Given the description of an element on the screen output the (x, y) to click on. 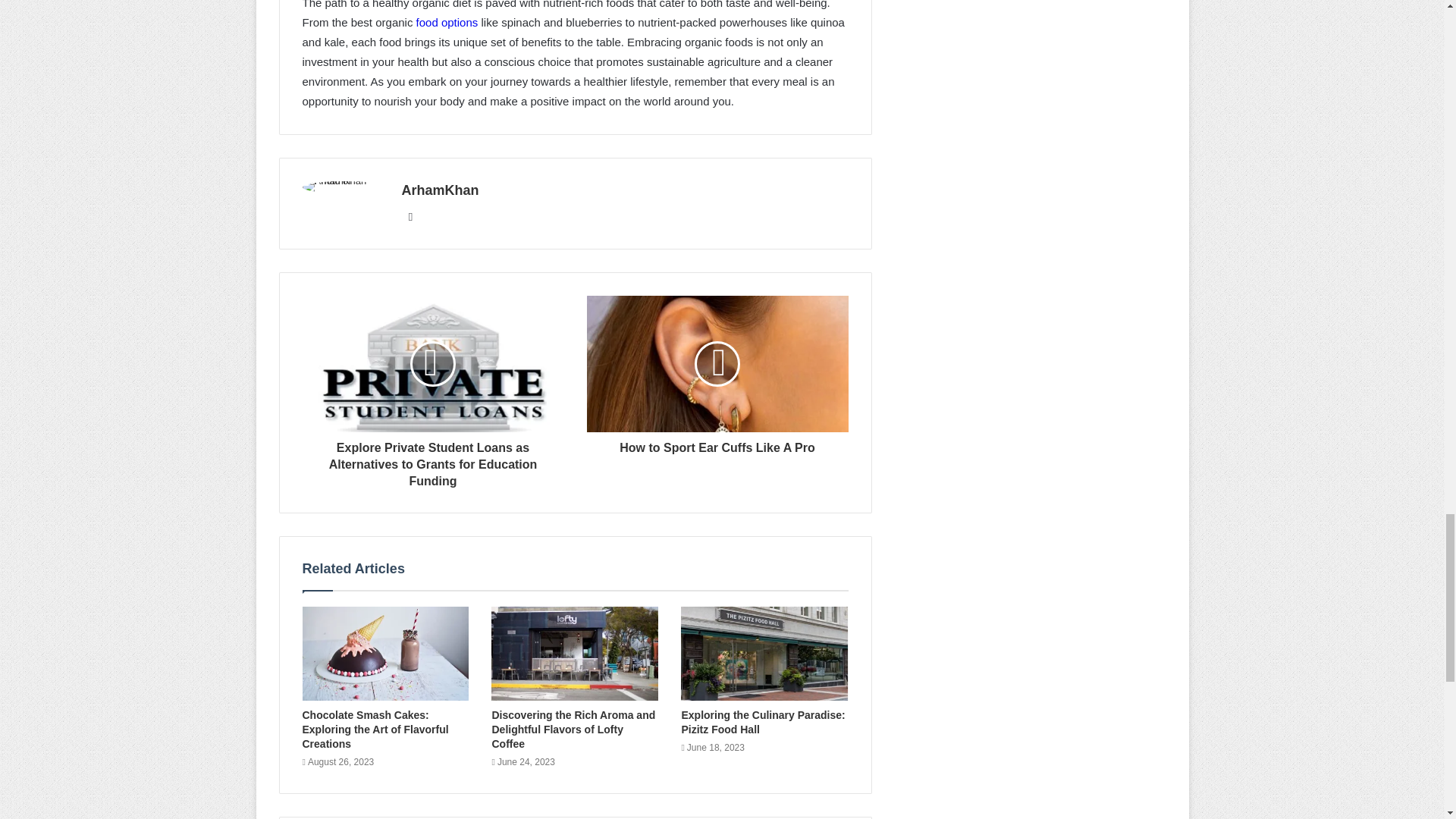
ArhamKhan (440, 190)
food options (447, 21)
Exploring the Culinary Paradise: Pizitz Food Hall (762, 722)
Website (410, 217)
How to Sport Ear Cuffs Like A Pro (717, 444)
